Given the description of an element on the screen output the (x, y) to click on. 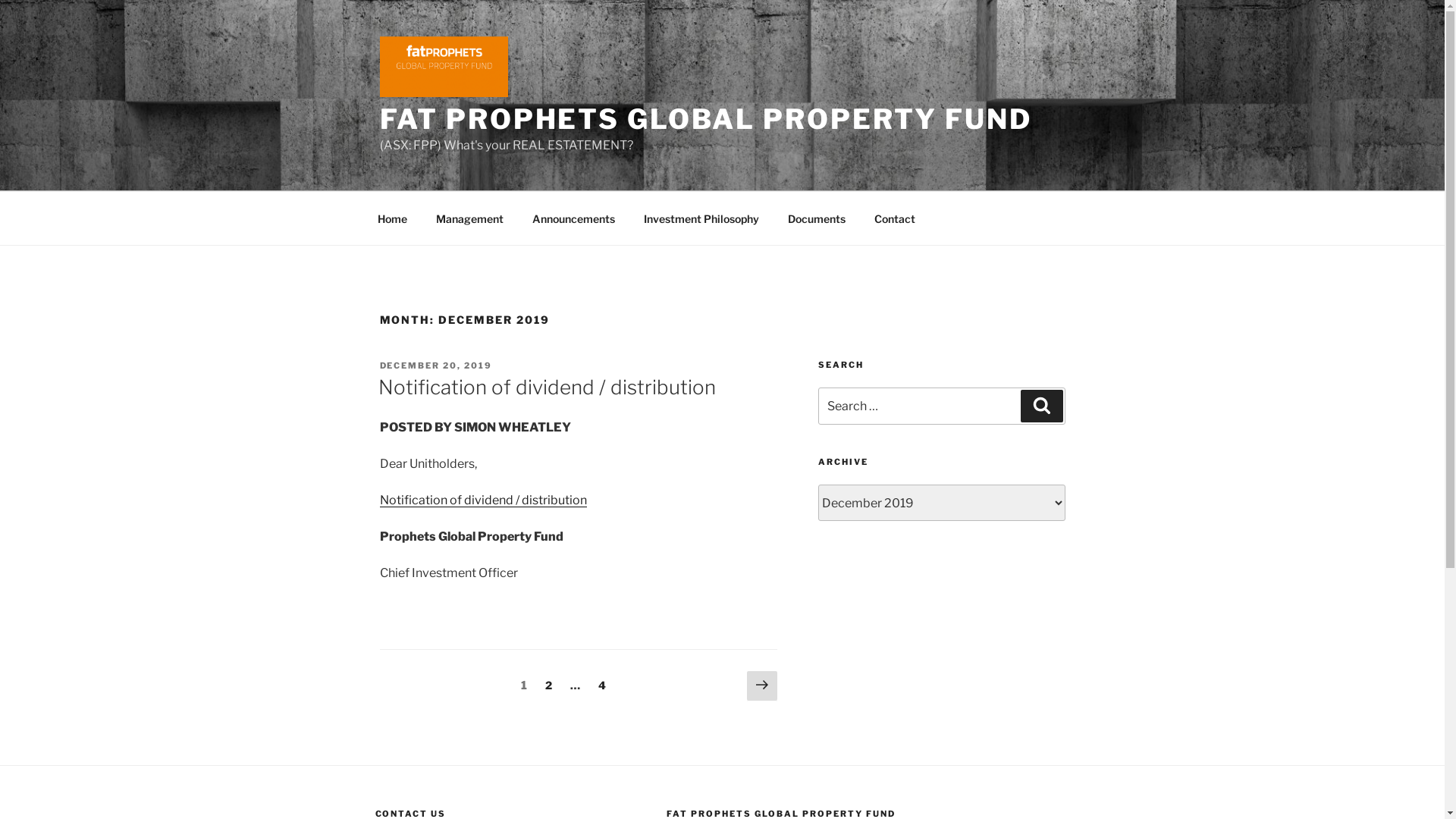
Contact Element type: text (894, 218)
Management Element type: text (470, 218)
Notification of dividend / distribution Element type: text (482, 499)
Page
2 Element type: text (548, 684)
Search Element type: text (1041, 405)
Announcements Element type: text (572, 218)
Home Element type: text (392, 218)
Investment Philosophy Element type: text (701, 218)
FAT PROPHETS GLOBAL PROPERTY FUND Element type: text (705, 118)
Documents Element type: text (817, 218)
Page
4 Element type: text (602, 684)
Next page Element type: text (761, 686)
Notification of dividend / distribution Element type: text (546, 386)
DECEMBER 20, 2019 Element type: text (435, 365)
